Given the description of an element on the screen output the (x, y) to click on. 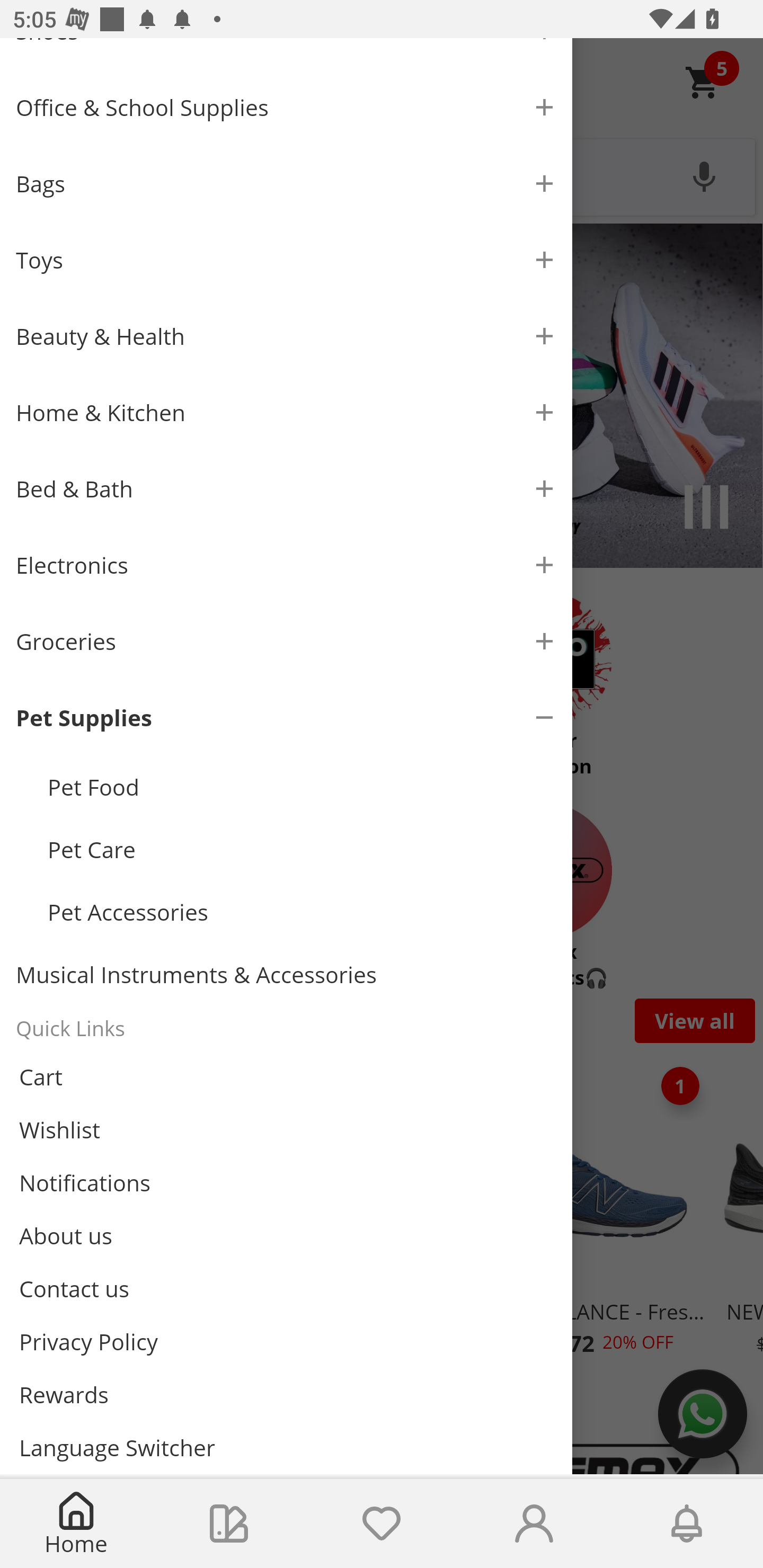
Shoes (286, 52)
Office & School Supplies (286, 106)
Bags (286, 183)
Toys (286, 259)
Beauty & Health (286, 335)
Home & Kitchen (286, 412)
Bed & Bath (286, 488)
Electronics (286, 564)
Groceries (286, 640)
Pet Supplies Pet Food Pet Care Pet Accessories (286, 810)
Pet Food (302, 786)
Pet Care (302, 849)
Pet Accessories (302, 912)
Musical Instruments & Accessories (286, 974)
Cart (286, 1076)
Wishlist (286, 1130)
Notifications (286, 1182)
About us (286, 1235)
Contact us (286, 1288)
Privacy Policy (286, 1341)
Rewards (286, 1394)
Language Switcher (286, 1446)
Collections (228, 1523)
Wishlist (381, 1523)
Account (533, 1523)
Notifications (686, 1523)
